Given the description of an element on the screen output the (x, y) to click on. 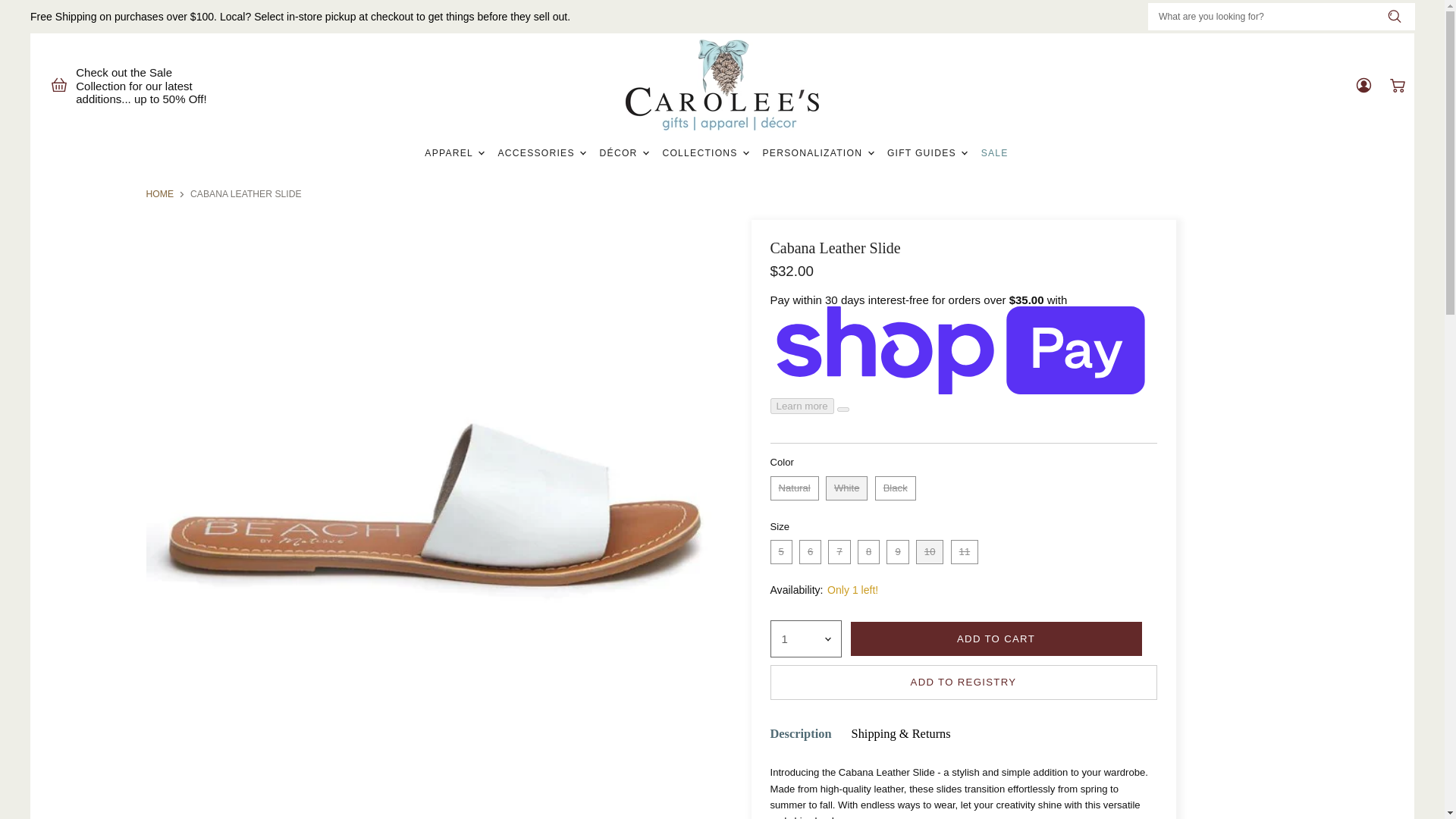
View account (1363, 85)
APPAREL (453, 153)
Add to Registry (963, 682)
